Given the description of an element on the screen output the (x, y) to click on. 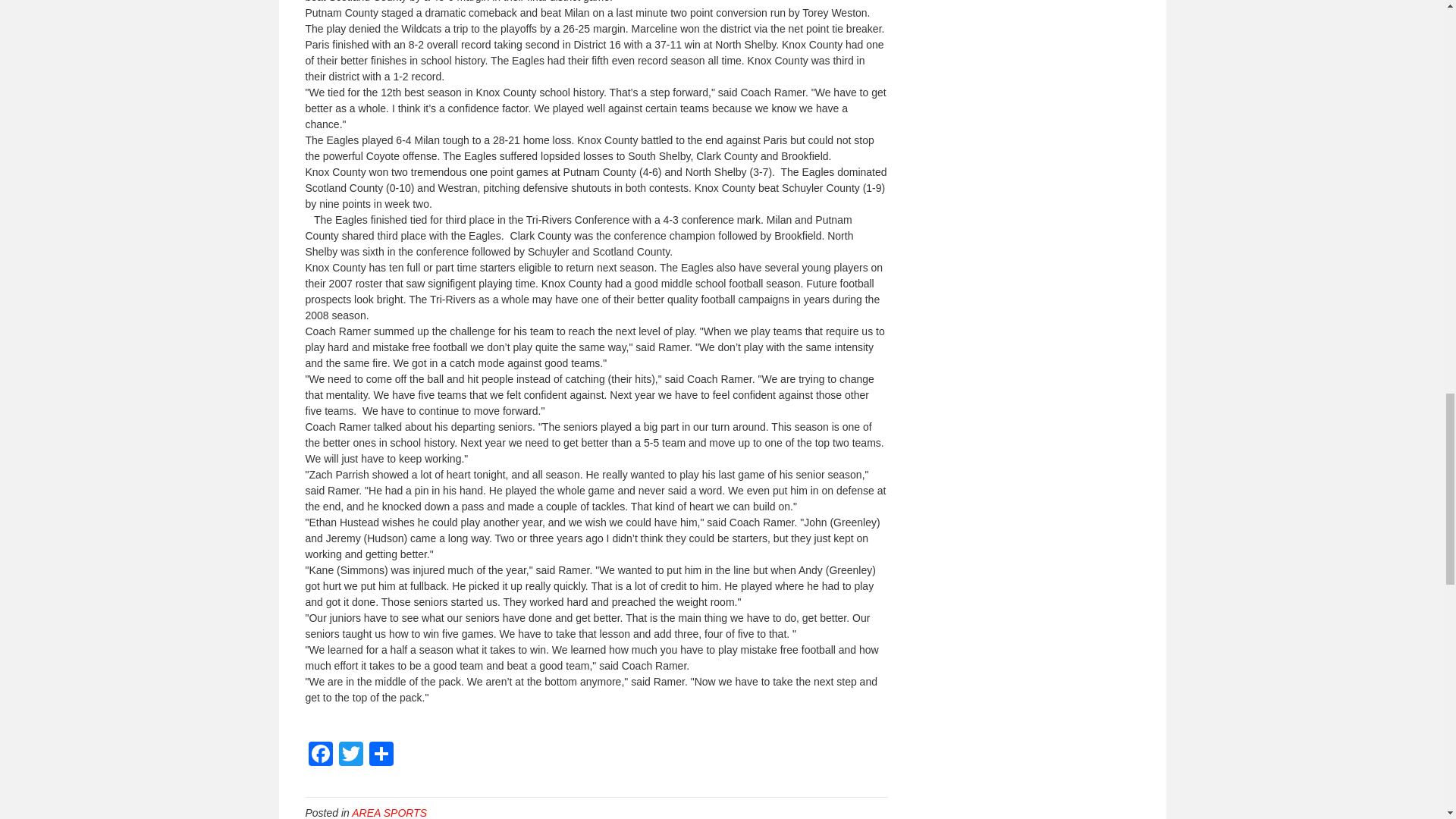
Twitter (349, 755)
Facebook (319, 755)
Twitter (349, 755)
Facebook (319, 755)
AREA SPORTS (389, 812)
